Given the description of an element on the screen output the (x, y) to click on. 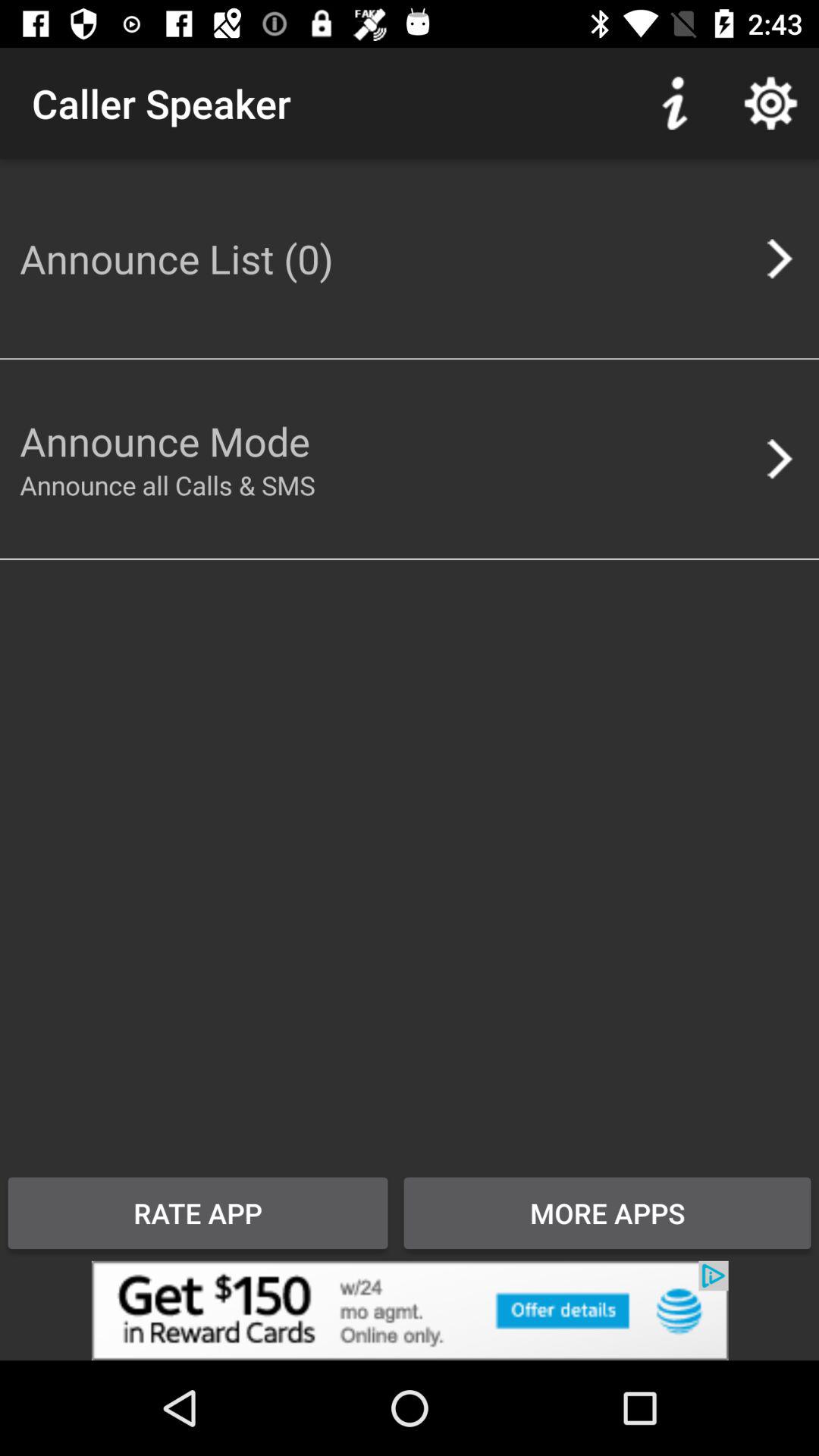
caller name sms talker (409, 1310)
